Given the description of an element on the screen output the (x, y) to click on. 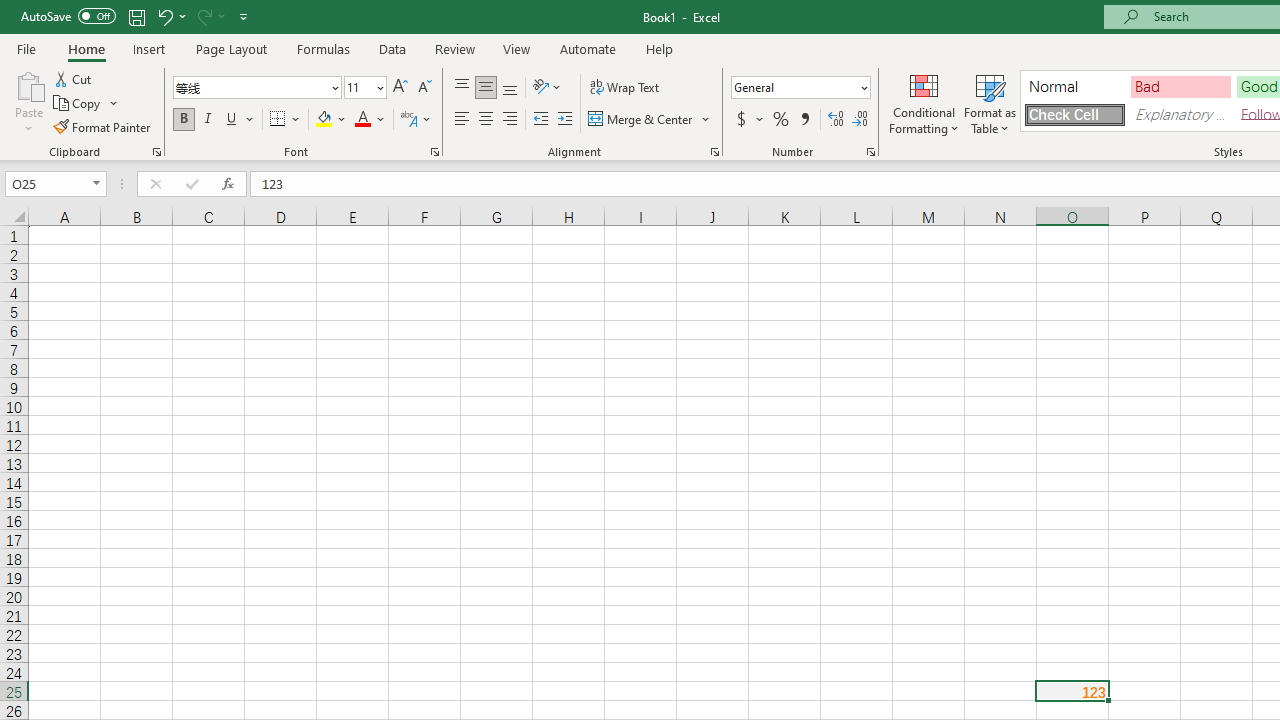
Comma Style (804, 119)
Format Cell Font (434, 151)
Increase Font Size (399, 87)
